Given the description of an element on the screen output the (x, y) to click on. 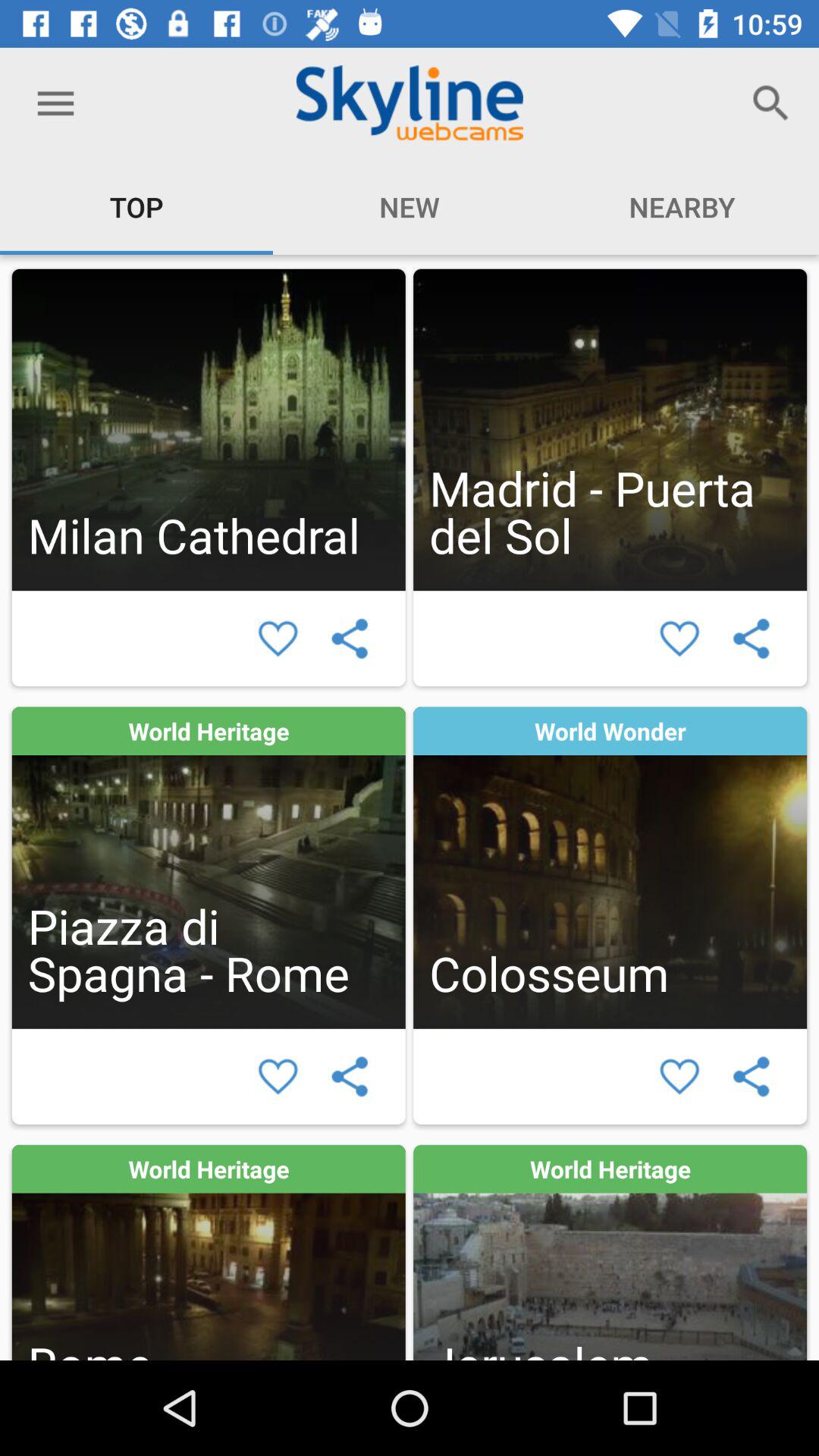
view webcam (208, 867)
